Given the description of an element on the screen output the (x, y) to click on. 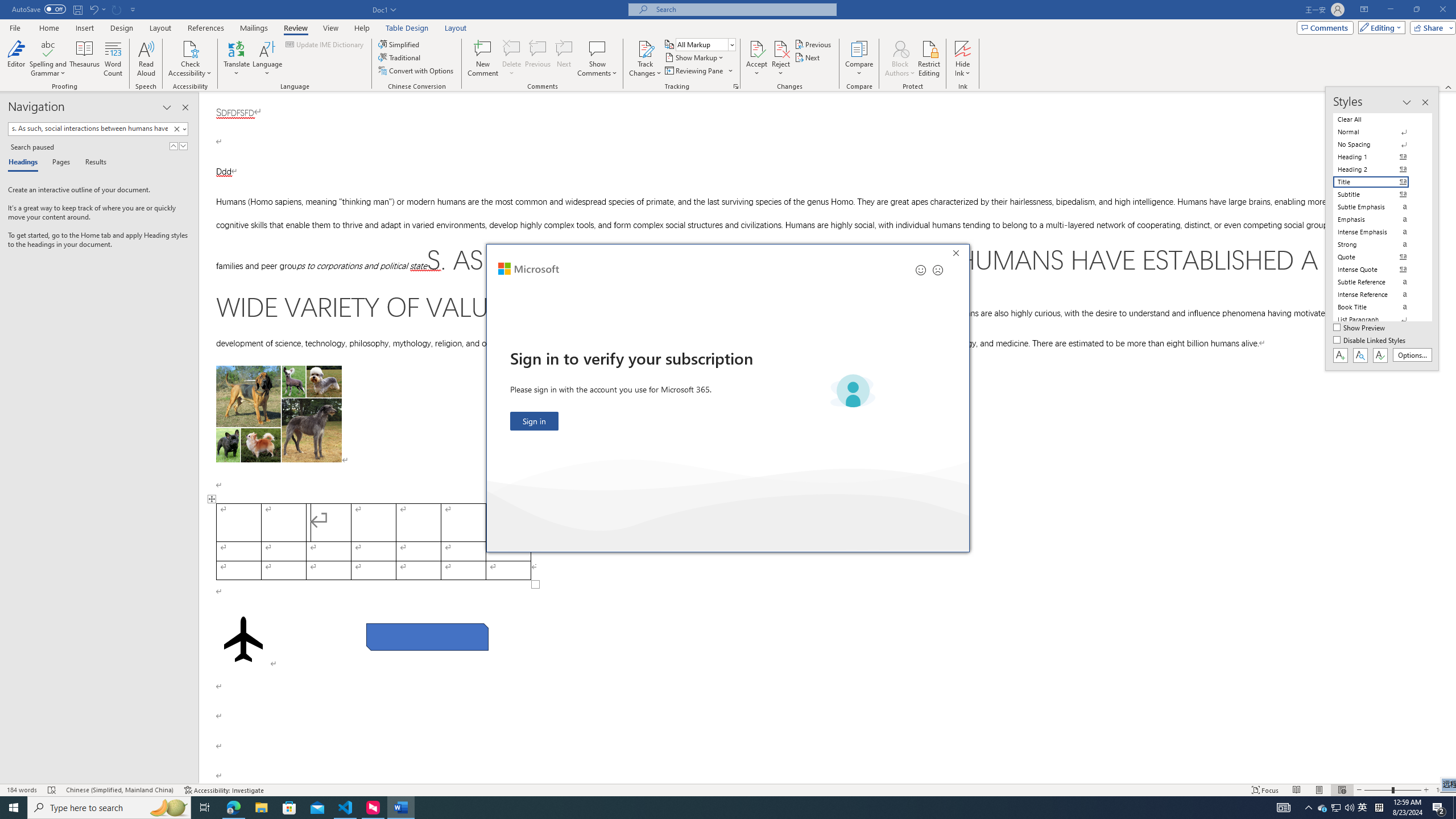
Restrict Editing (929, 58)
Show Comments (597, 58)
Track Changes (644, 48)
Translate (236, 58)
Send a smile for feedback (920, 269)
Intense Emphasis (1377, 232)
Word Count 184 words (22, 790)
Tray Input Indicator - Chinese (Simplified, China) (1378, 807)
Previous (813, 44)
Clear (176, 128)
